Given the description of an element on the screen output the (x, y) to click on. 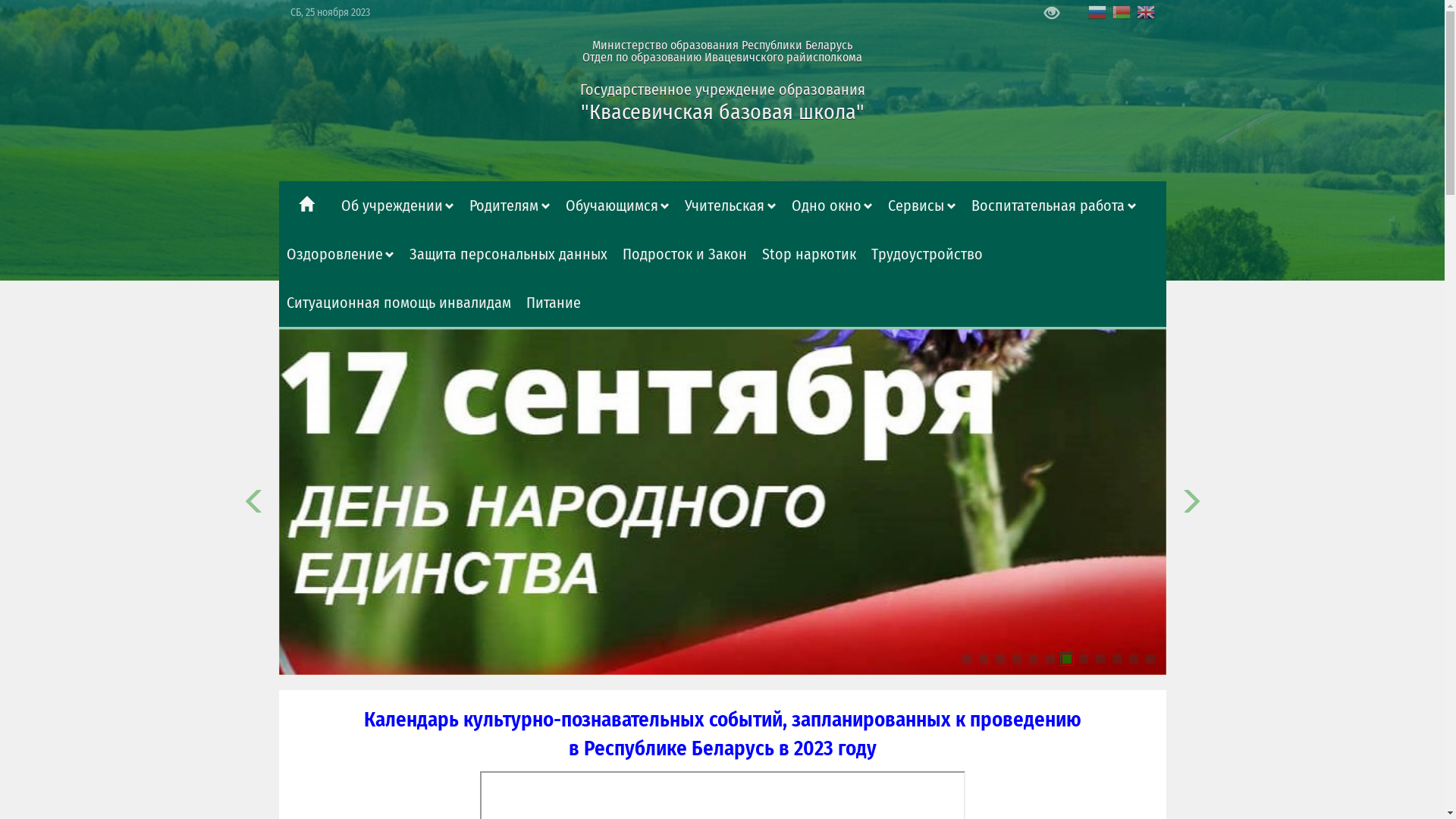
5 Element type: text (1032, 658)
10 Element type: text (1115, 658)
3 Element type: text (999, 658)
1 Element type: text (965, 658)
7 Element type: text (1065, 658)
4 Element type: text (1015, 658)
2 Element type: text (982, 658)
6 Element type: text (1049, 658)
9 Element type: text (1099, 658)
12 Element type: text (1149, 658)
8 Element type: text (1082, 658)
11 Element type: text (1132, 658)
